Given the description of an element on the screen output the (x, y) to click on. 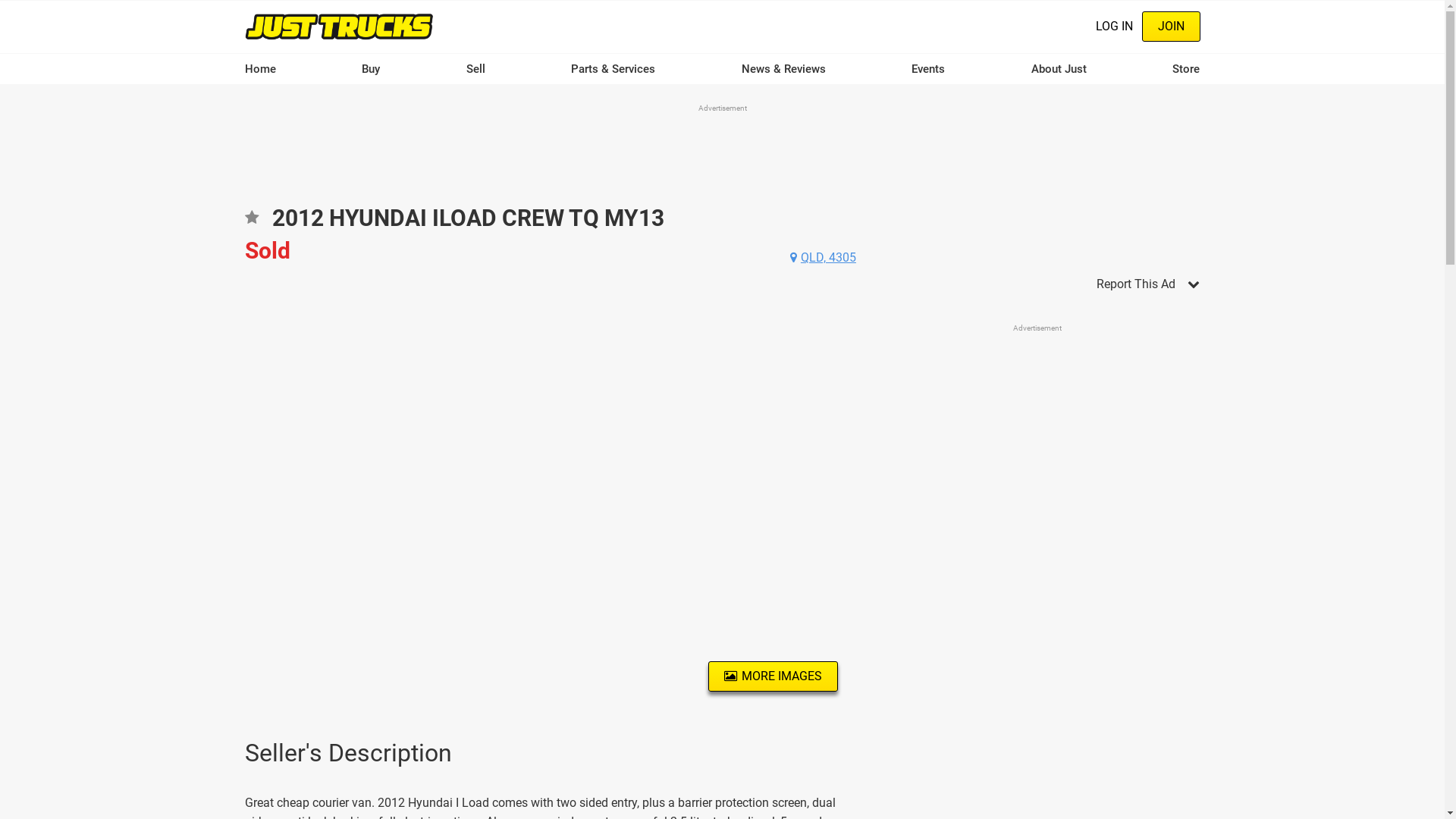
Skip to main content Element type: text (0, 0)
Events Element type: text (927, 68)
LOG IN Element type: text (1113, 26)
About Just Element type: text (1058, 68)
Sell Element type: text (475, 68)
Home Element type: text (259, 68)
JOIN Element type: text (1171, 26)
News & Reviews Element type: text (783, 68)
QLD, 4305 Element type: text (823, 257)
Buy Element type: text (370, 68)
Home Element type: hover (338, 25)
Parts & Services Element type: text (613, 68)
Store Element type: text (1185, 68)
Add to favourites Element type: text (250, 222)
